Given the description of an element on the screen output the (x, y) to click on. 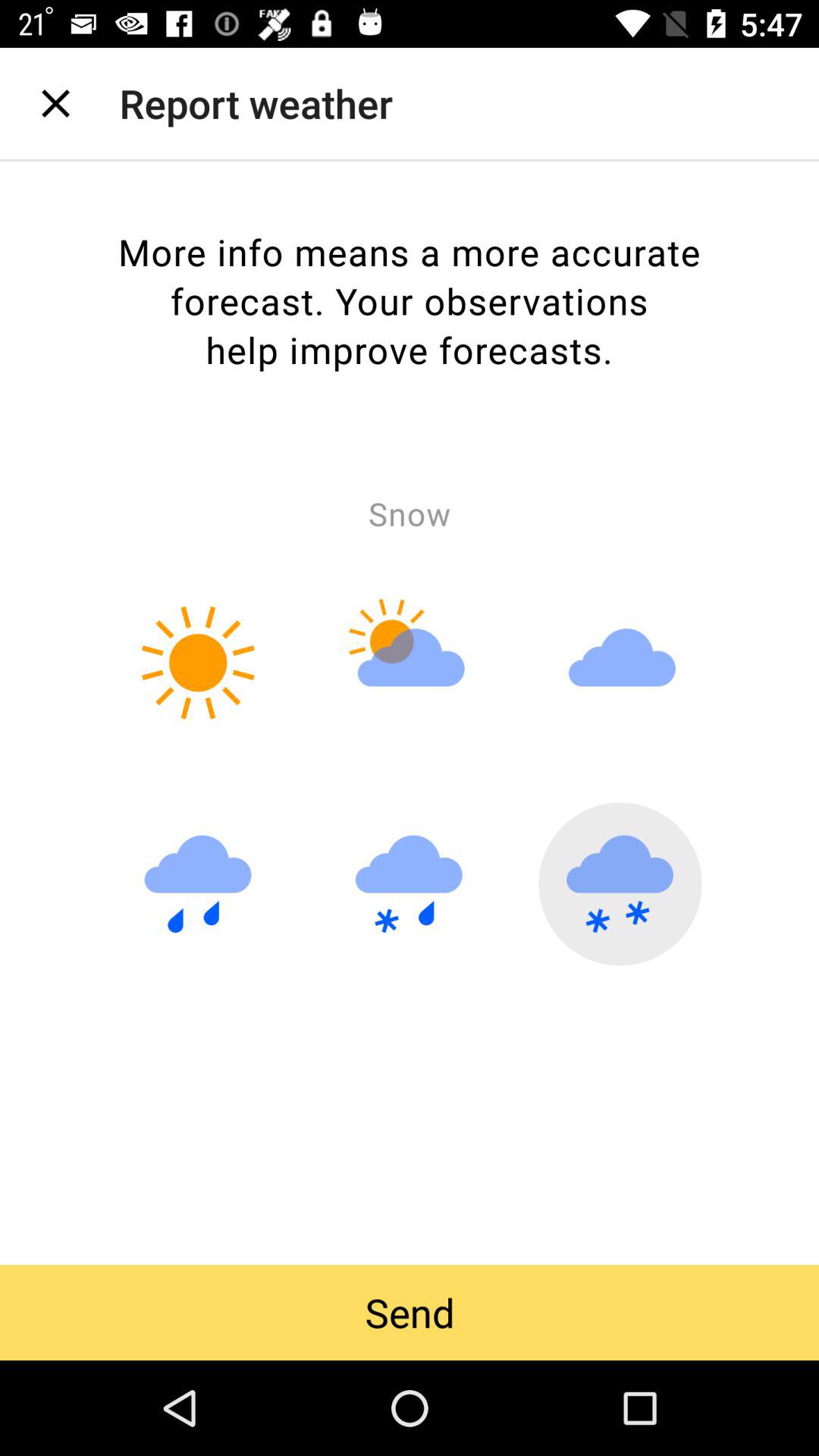
flip until send (409, 1312)
